Given the description of an element on the screen output the (x, y) to click on. 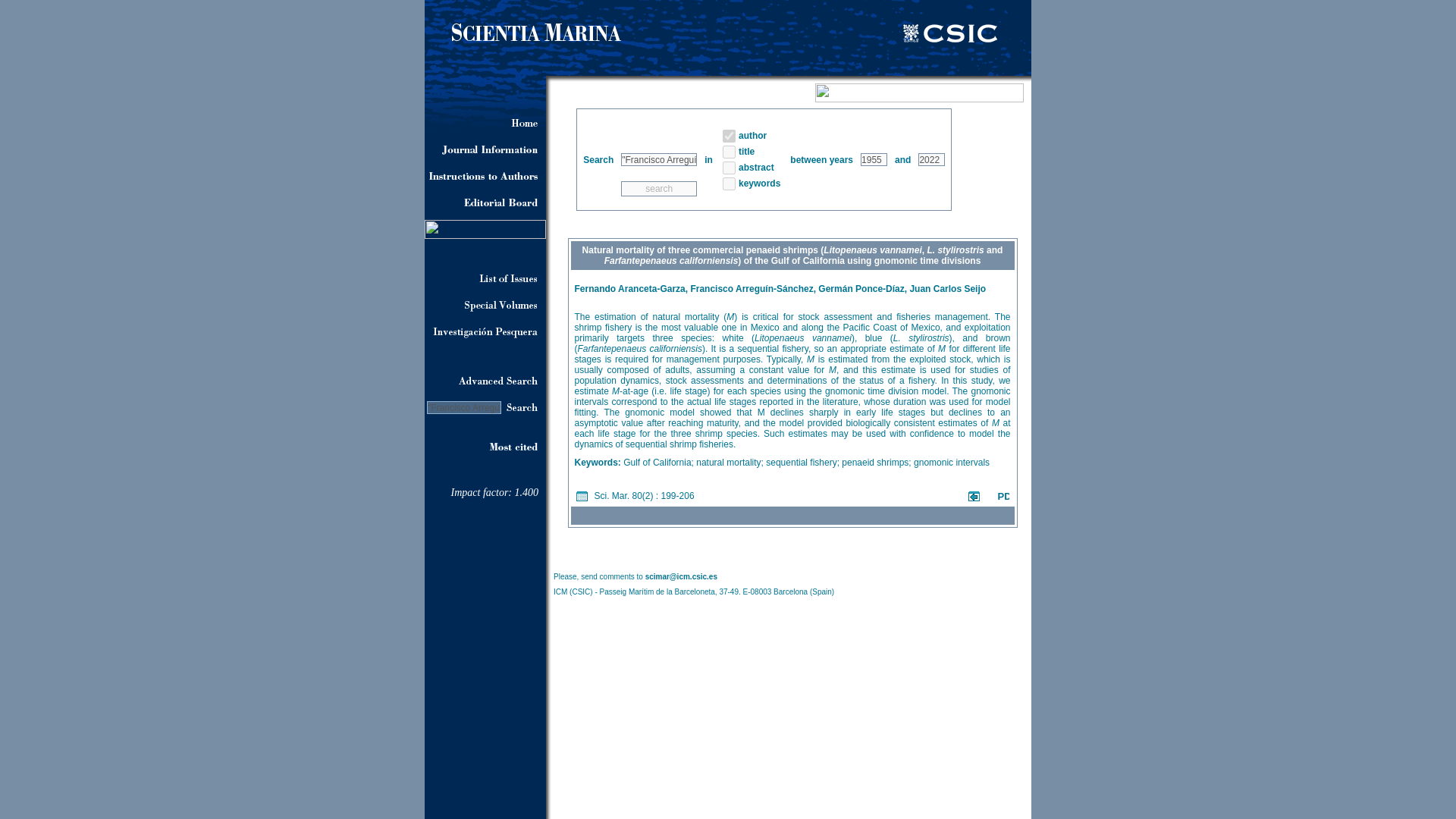
1955 (873, 159)
1 (728, 134)
1 (728, 151)
1 (728, 183)
search (659, 188)
1 (728, 166)
2022 (931, 159)
search (659, 188)
